Given the description of an element on the screen output the (x, y) to click on. 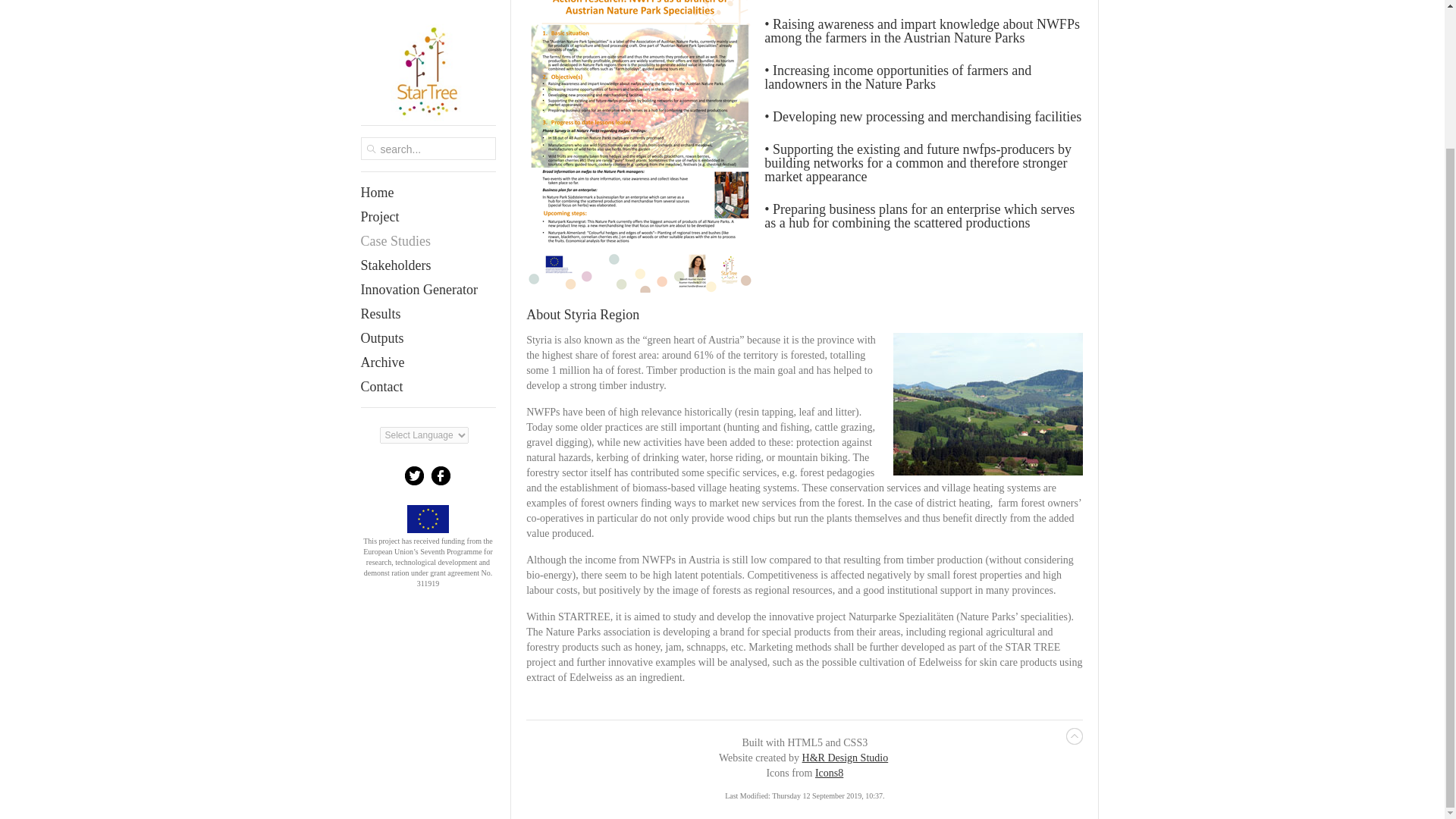
Home (436, 22)
Case Studies (436, 70)
Innovation Generator (436, 118)
Project (436, 45)
Stakeholders (436, 94)
